Given the description of an element on the screen output the (x, y) to click on. 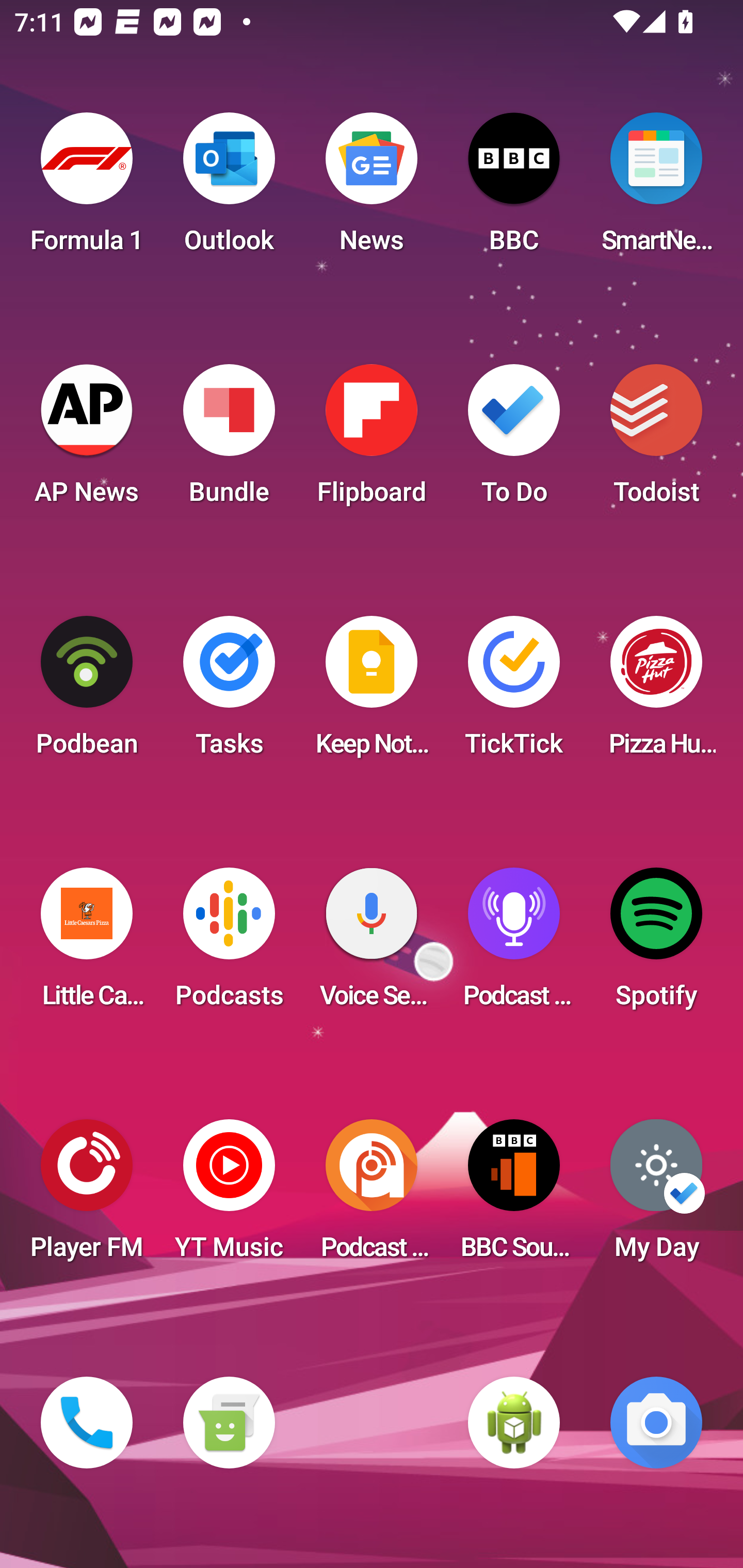
Formula 1 (86, 188)
Outlook (228, 188)
News (371, 188)
BBC (513, 188)
SmartNews (656, 188)
AP News (86, 440)
Bundle (228, 440)
Flipboard (371, 440)
To Do (513, 440)
Todoist (656, 440)
Podbean (86, 692)
Tasks (228, 692)
Keep Notes (371, 692)
TickTick (513, 692)
Pizza Hut HK & Macau (656, 692)
Little Caesars Pizza (86, 943)
Podcasts (228, 943)
Voice Search (371, 943)
Podcast Player (513, 943)
Spotify (656, 943)
Player FM (86, 1195)
YT Music (228, 1195)
Podcast Addict (371, 1195)
BBC Sounds (513, 1195)
My Day (656, 1195)
Phone (86, 1422)
Messaging (228, 1422)
WebView Browser Tester (513, 1422)
Camera (656, 1422)
